Given the description of an element on the screen output the (x, y) to click on. 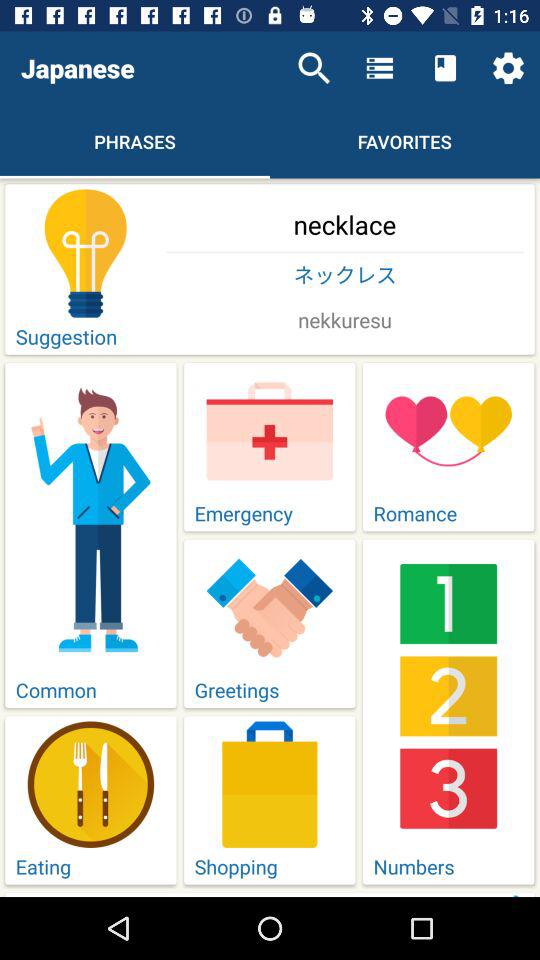
select the option named common (90, 535)
click the image above shopping (269, 784)
click on emergeny icon above greetings (269, 447)
select the first button below the tab phrases (269, 269)
go to greetings (269, 623)
